Given the description of an element on the screen output the (x, y) to click on. 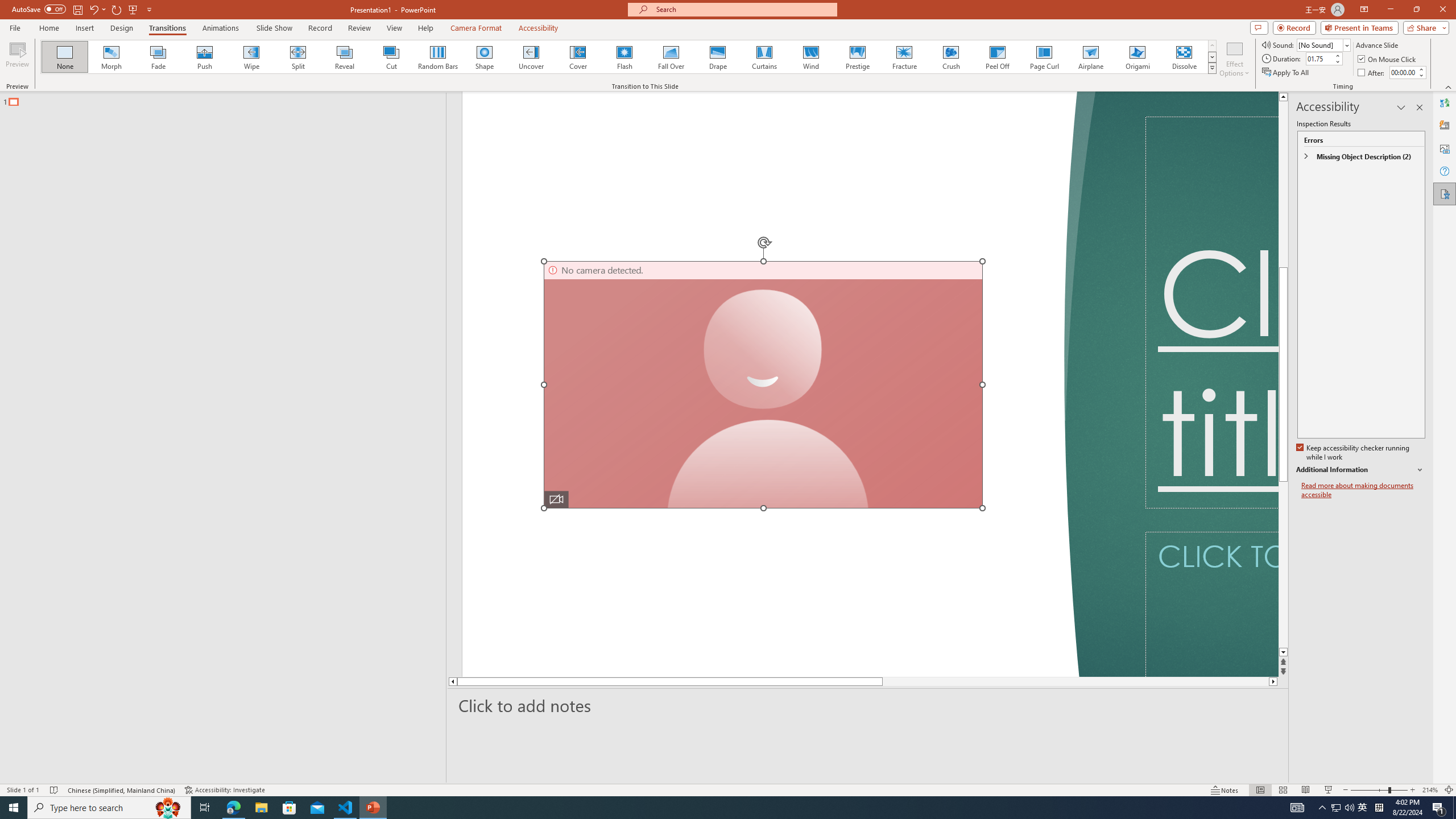
After (1403, 72)
Outline (227, 99)
Apply To All (1286, 72)
Cover (577, 56)
Alt Text (1444, 147)
Less (1420, 75)
Fall Over (670, 56)
Origami (1136, 56)
